Given the description of an element on the screen output the (x, y) to click on. 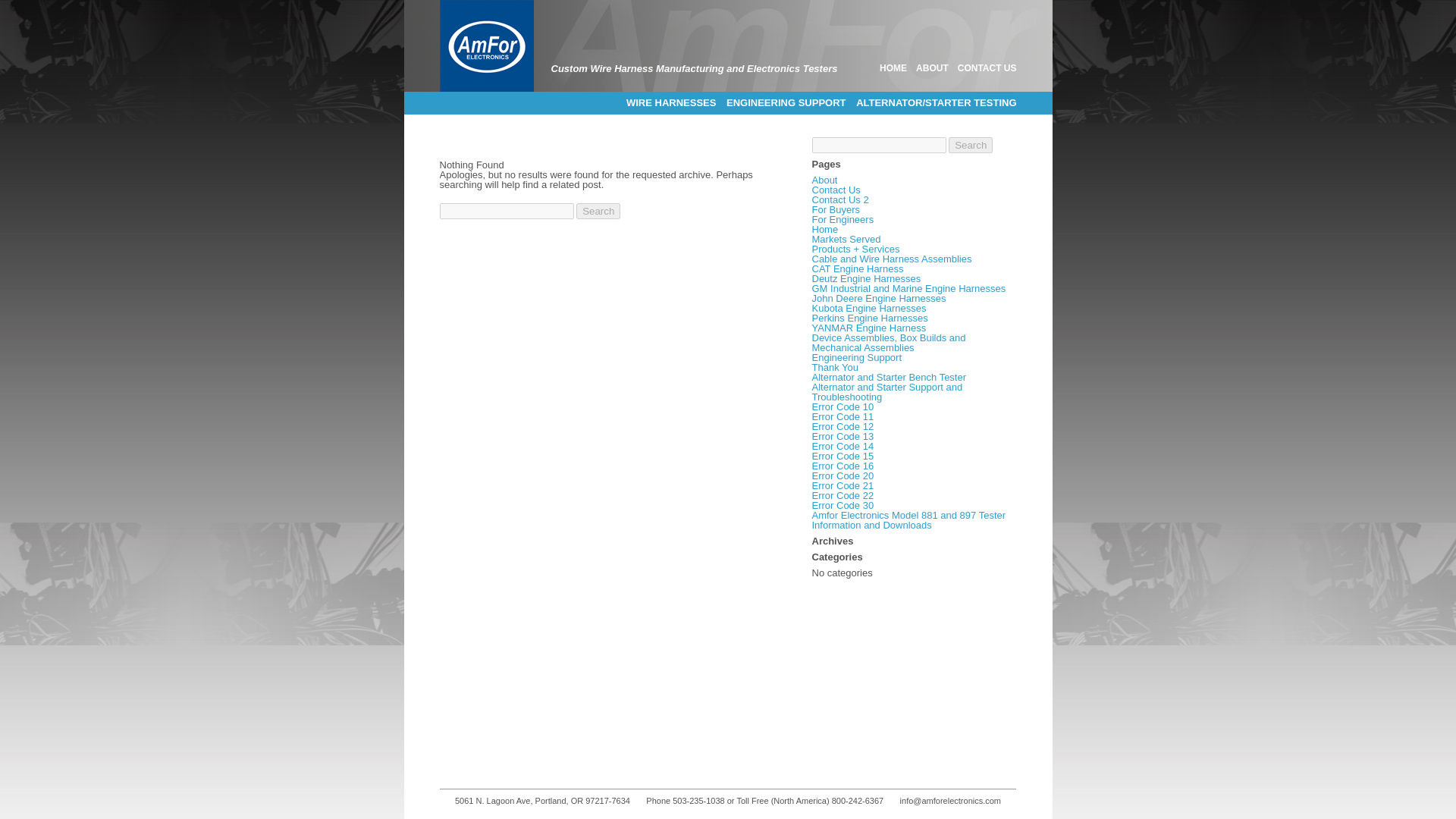
For Engineers (841, 219)
Contact Us 2 (838, 199)
Error Code 10 (841, 406)
Error Code 21 (841, 485)
ENGINEERING SUPPORT (785, 102)
John Deere Engine Harnesses (877, 297)
Engineering Support (855, 357)
Perkins Engine Harnesses (868, 317)
WIRE HARNESSES (671, 102)
Markets Served (845, 238)
